Given the description of an element on the screen output the (x, y) to click on. 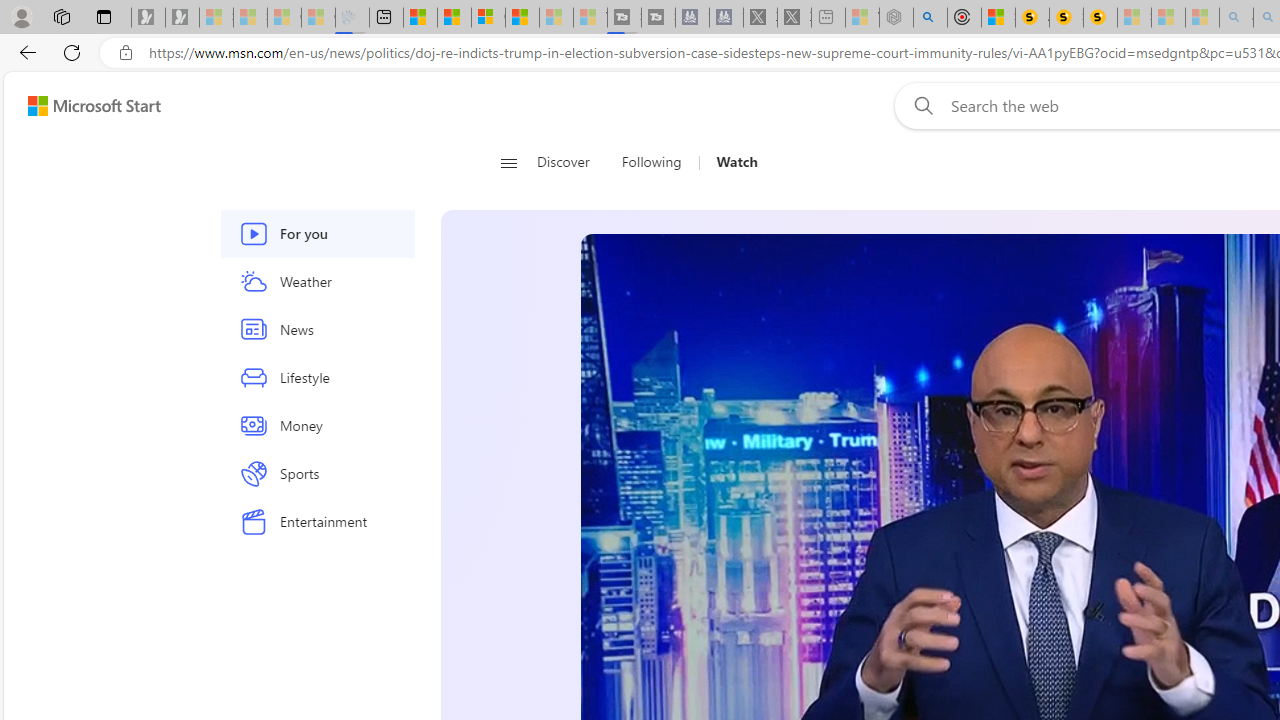
Michelle Starr, Senior Journalist at ScienceAlert (1100, 17)
